Given the description of an element on the screen output the (x, y) to click on. 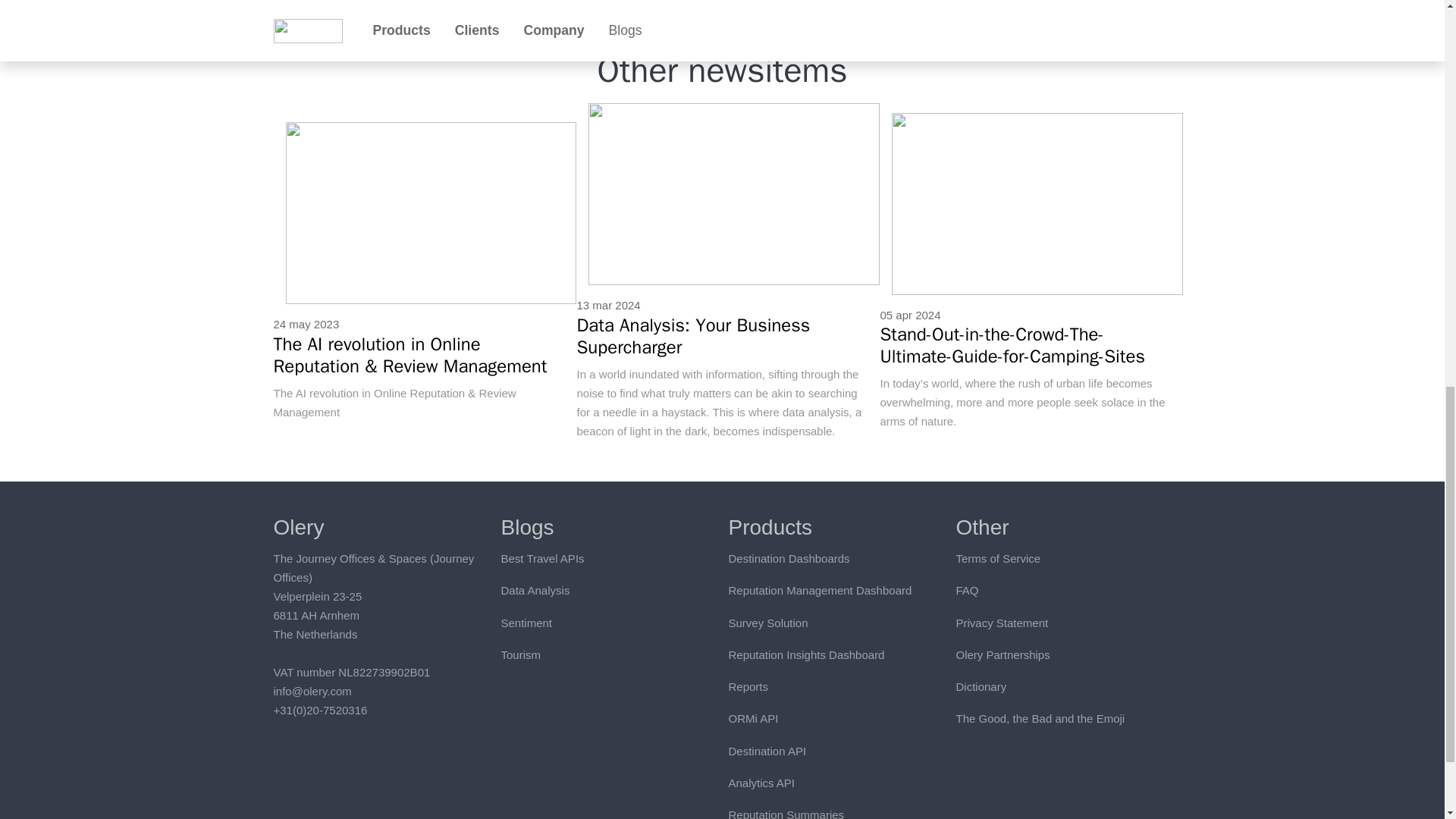
Data Analysis (534, 590)
Reports (748, 686)
Destination API (767, 750)
Reputation Insights Dashboard (805, 654)
Sentiment (525, 622)
Analytics API (761, 782)
Reputation Summaries (786, 813)
Survey Solution (768, 622)
Tourism (520, 654)
